Given the description of an element on the screen output the (x, y) to click on. 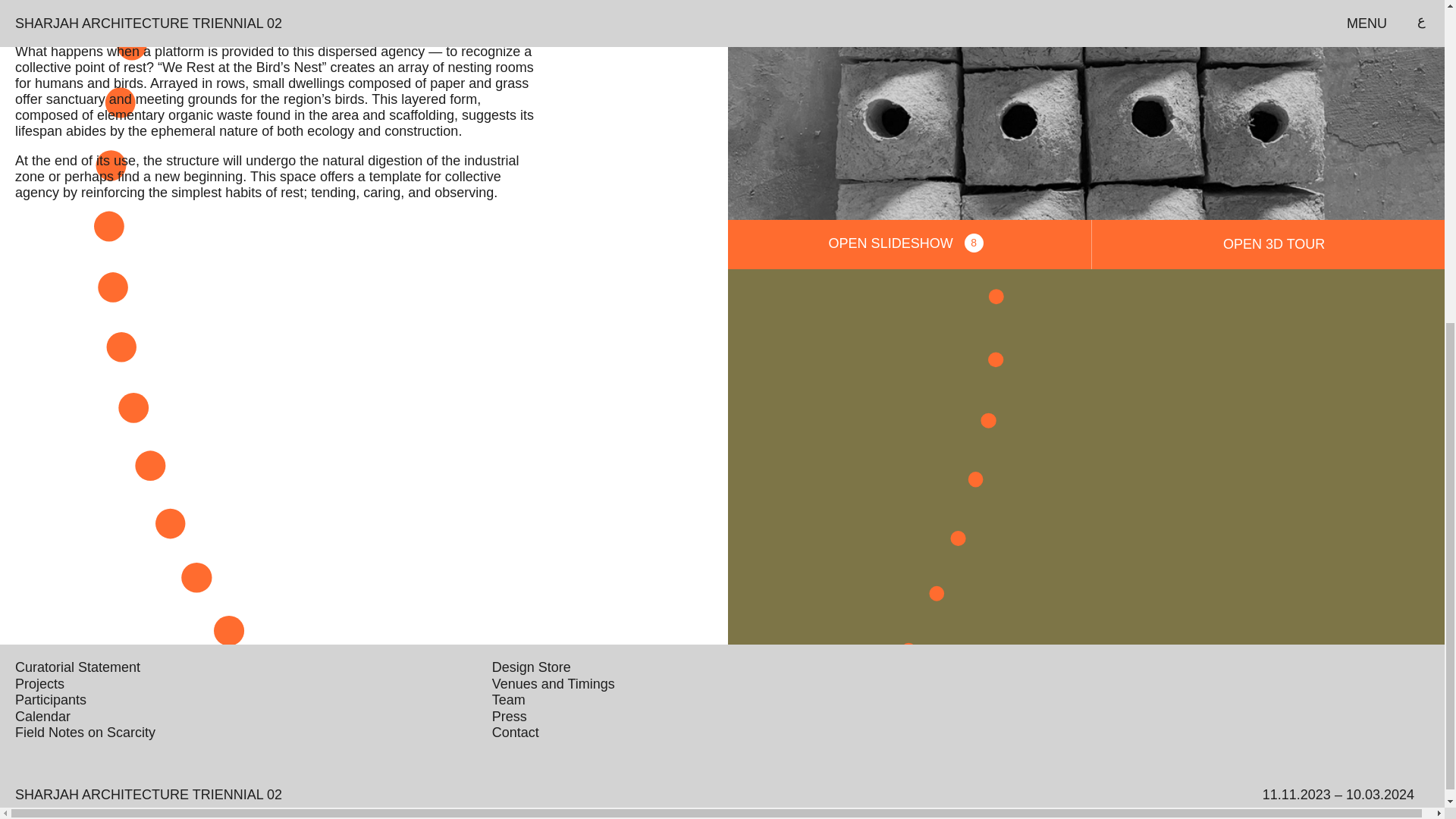
Press (509, 716)
Team (508, 699)
Projects (910, 244)
Curatorial Statement (39, 683)
SHARJAH ARCHITECTURE TRIENNIAL 02 (76, 667)
Design Store (148, 795)
Contact (531, 667)
Calendar (515, 732)
Participants (41, 716)
